Given the description of an element on the screen output the (x, y) to click on. 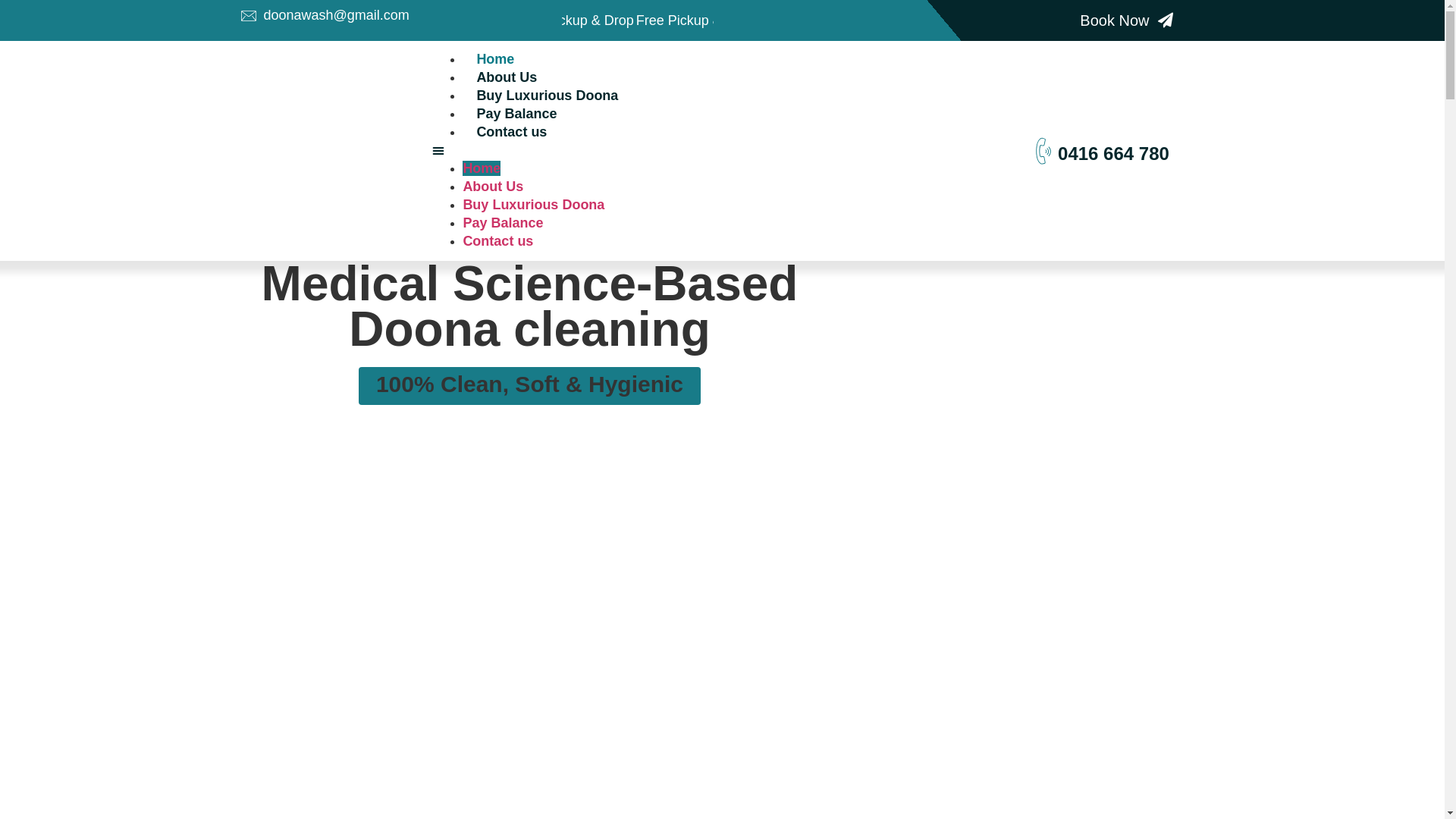
Book Now Element type: text (1126, 20)
Buy Luxurious Doona Element type: text (533, 204)
Pay Balance Element type: text (516, 113)
About Us Element type: text (506, 76)
Contact us Element type: text (511, 131)
Home Element type: text (481, 167)
doonawash@gmail.com Element type: text (401, 15)
Contact us Element type: text (497, 240)
Home Element type: text (494, 58)
Pay Balance Element type: text (502, 222)
Buy Luxurious Doona Element type: text (546, 95)
0416 664 780 Element type: text (1113, 153)
About Us Element type: text (492, 186)
